Given the description of an element on the screen output the (x, y) to click on. 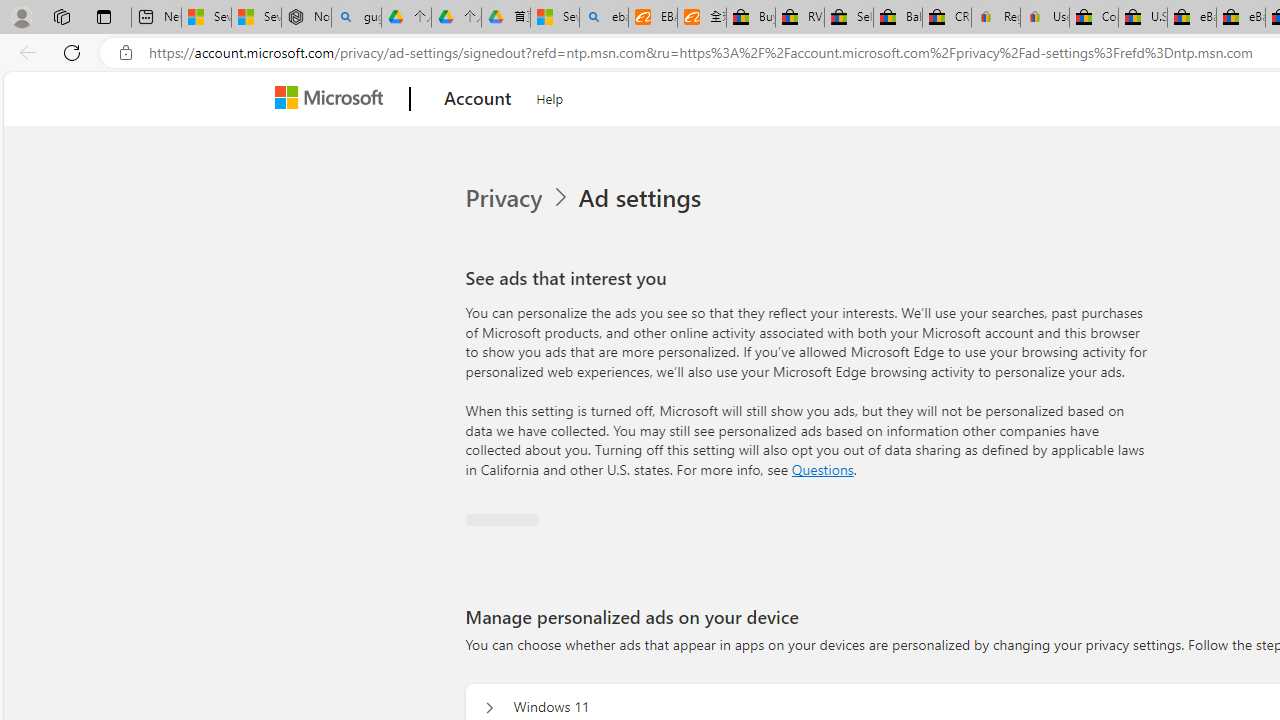
Ad settings (643, 197)
Privacy (505, 197)
Help (550, 96)
Microsoft (332, 99)
Manage personalized ads on your device Windows 11 (489, 708)
Help (550, 96)
Buy Auto Parts & Accessories | eBay (750, 17)
